Given the description of an element on the screen output the (x, y) to click on. 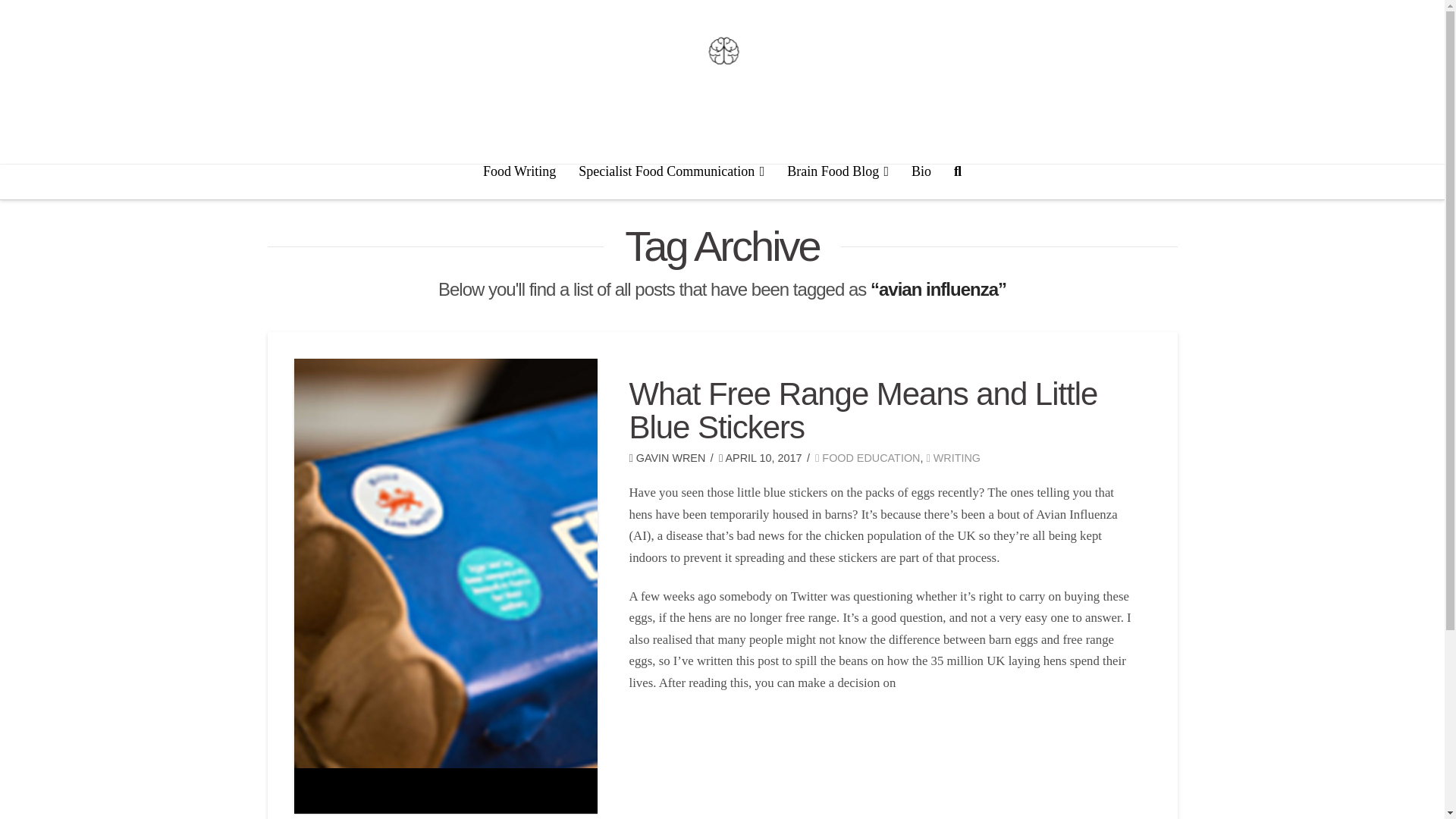
Food Writing (519, 181)
Specialist Food Communication (671, 181)
Bio (920, 181)
Brain Food Blog (837, 181)
